Given the description of an element on the screen output the (x, y) to click on. 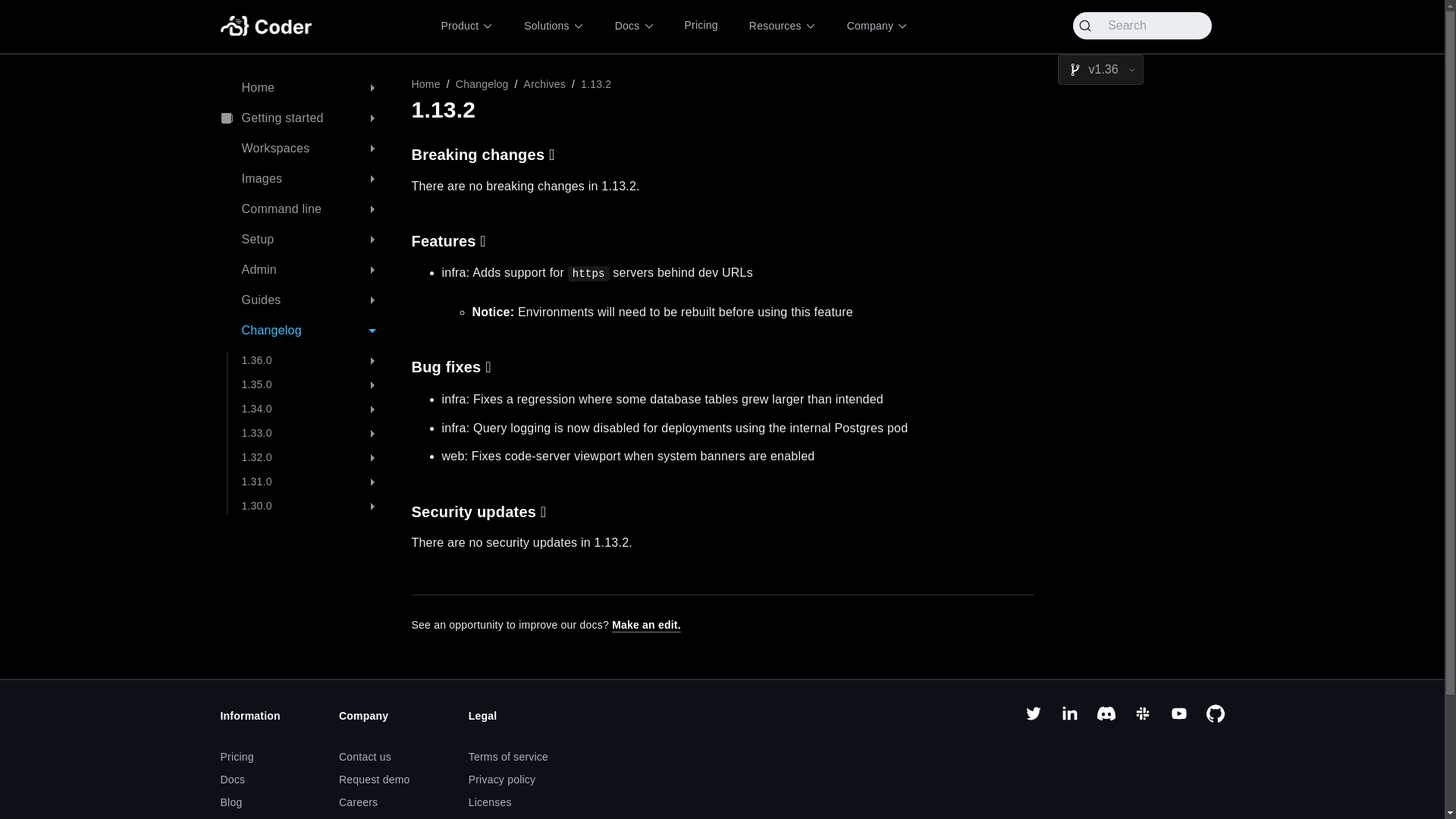
Slack (1141, 718)
Admin (303, 270)
Home (303, 87)
Pricing (700, 25)
1.34.0 (314, 409)
Images (303, 178)
Setup (303, 239)
Home (424, 83)
1.32.0 (314, 457)
1.36.0 (314, 361)
Search (1142, 25)
Changelog (303, 330)
Workspaces (303, 148)
Changelog (481, 83)
Archives (545, 83)
